Given the description of an element on the screen output the (x, y) to click on. 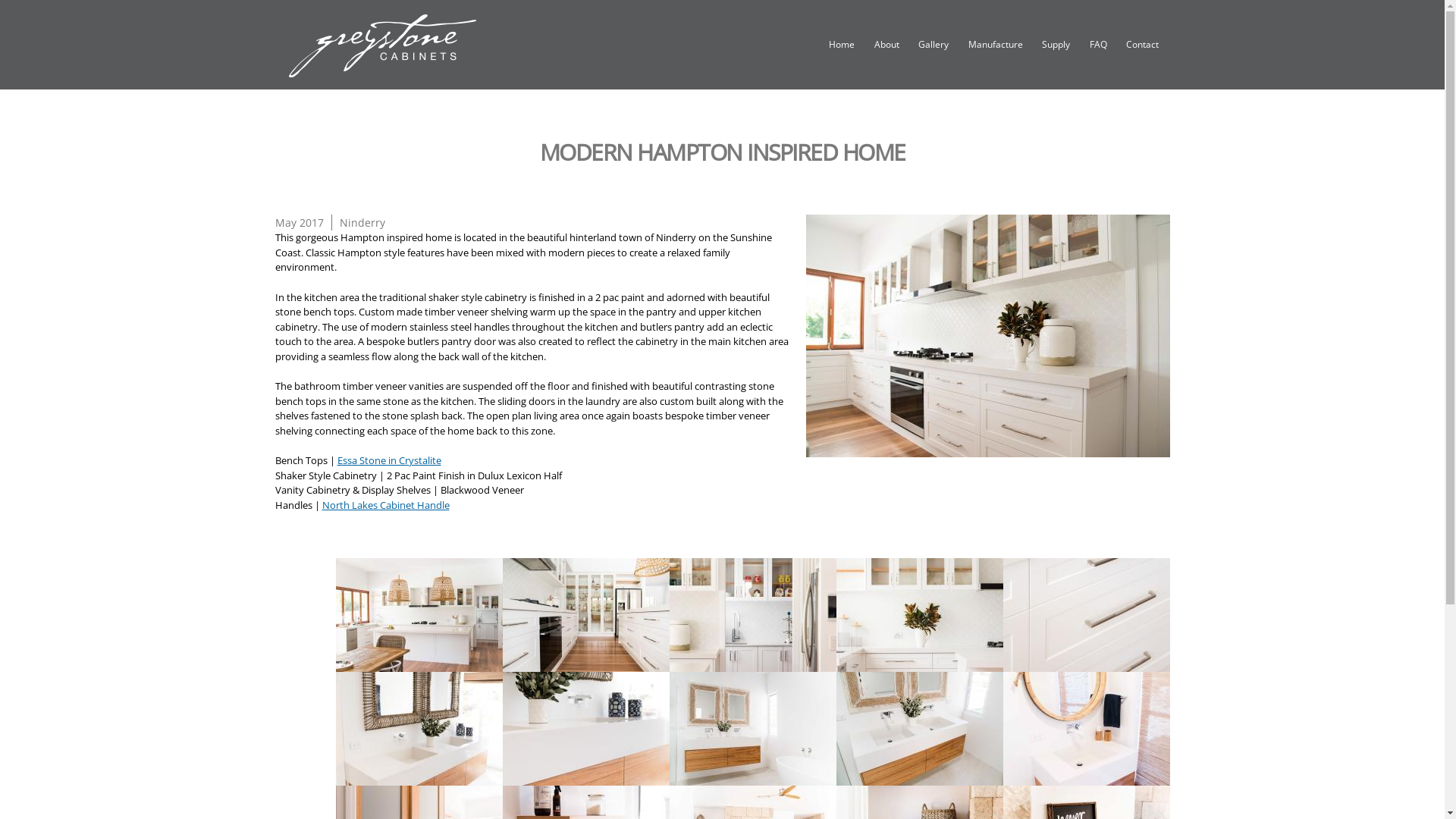
Modern Hampton Home Glass Pantry Doors Element type: hover (585, 663)
Modern Hampton Home Butlers Pantry Element type: hover (751, 663)
North Lakes Cabinet Handle Element type: text (384, 504)
FAQ Element type: text (1097, 45)
Modern Hampton Home Glass Pantry Doors Element type: hover (585, 614)
Modern Hampton Home Powder Room Blackwood Veneer Vanity Element type: hover (1085, 777)
Modern Hampton Home Butlers Pantry Element type: hover (751, 614)
Modern Hampton Home Glass Upper Doors Element type: hover (918, 614)
Modern Hampton Home Glass Upper Doors Element type: hover (918, 663)
Modern Hampton Home Kitchen Element type: hover (418, 663)
Modern Hampton Home White Shaker Kitchen Element type: hover (987, 334)
Modern Hampton Home Powder Room Blackwood Veneer Vanity Element type: hover (1085, 728)
Contact Element type: text (1142, 45)
Modern Hampton Home Suspended Bathroom Vanity Element type: hover (751, 777)
Modern Hampton Home White Shaker Kitchen Element type: hover (987, 448)
Modern Hampton Home Suspended Ensuite Vanity Element type: hover (418, 728)
Modern Hampton Home Shaker Drawers with Modern Handles Element type: hover (1085, 614)
Gallery Element type: text (933, 45)
Manufacture Element type: text (995, 45)
Home Element type: text (841, 45)
Skip to main content Element type: text (695, 1)
Modern Hampton Home Suspended Bathroom Vanity Element type: hover (751, 728)
Modern Hampton Home Suspended Ensuite Vanity Element type: hover (418, 777)
Modern Hampton Home Kitchen Element type: hover (418, 614)
Modern Hampton Home Shaker Drawers with Modern Handles Element type: hover (1085, 663)
About Element type: text (886, 45)
Essa Stone in Crystalite Element type: text (388, 460)
Supply Element type: text (1055, 45)
